Given the description of an element on the screen output the (x, y) to click on. 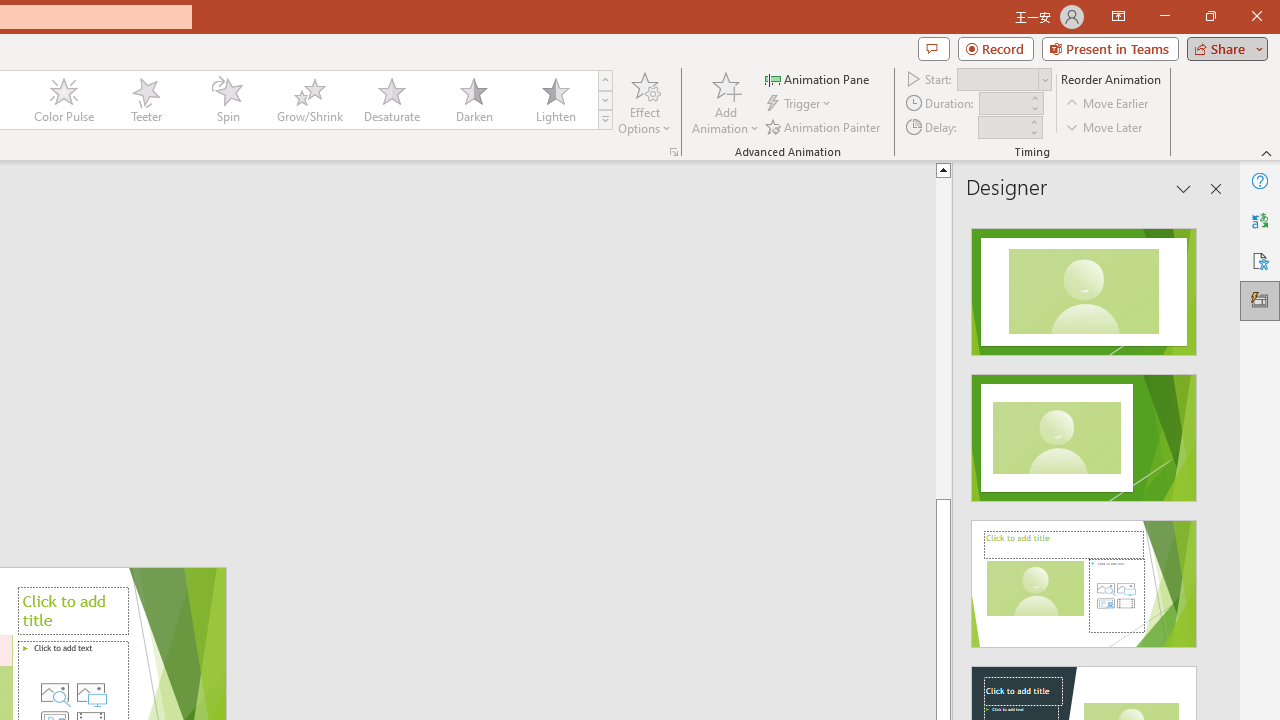
Animation Painter (824, 126)
Grow/Shrink (309, 100)
Close (1256, 16)
Accessibility (1260, 260)
Ribbon Display Options (1118, 16)
Task Pane Options (1183, 188)
Start (1004, 78)
Row Down (605, 100)
Teeter (145, 100)
Open (1044, 79)
Pictures (91, 692)
Animation Delay (1002, 127)
Darken (473, 100)
Stock Images (54, 692)
